Given the description of an element on the screen output the (x, y) to click on. 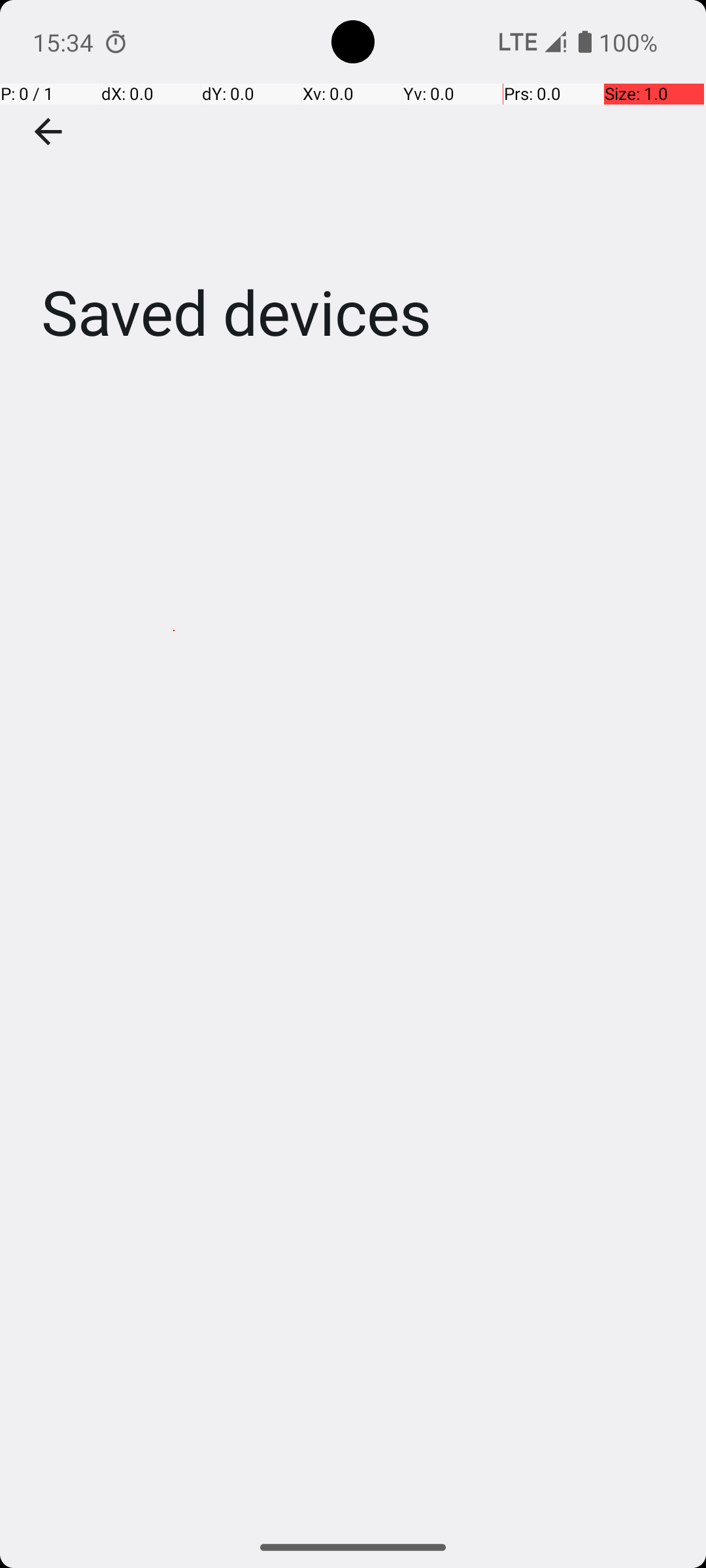
Saved devices Element type: android.widget.FrameLayout (353, 195)
